Given the description of an element on the screen output the (x, y) to click on. 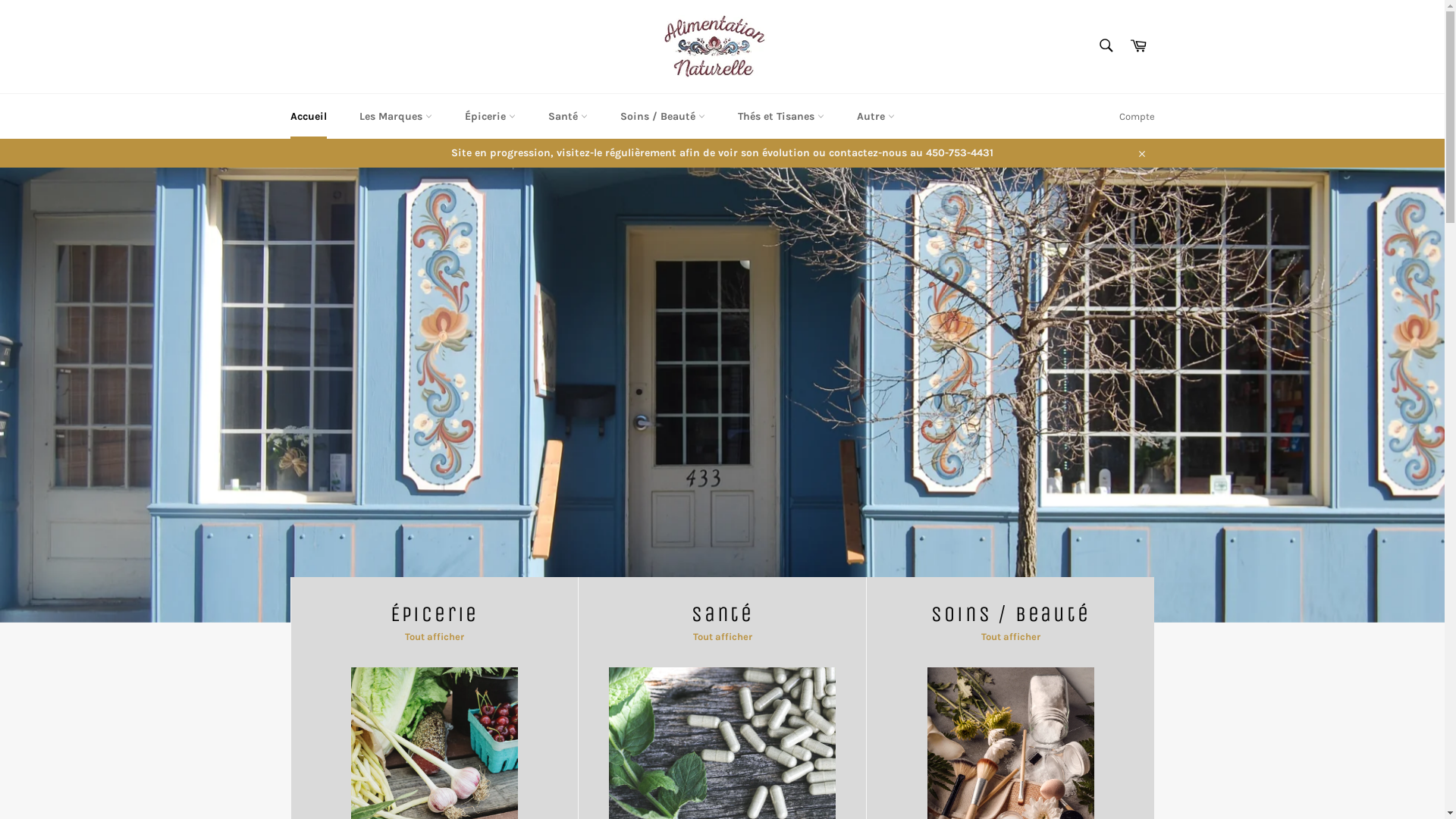
Les Marques Element type: text (395, 116)
Panier Element type: text (1138, 46)
Recherche Element type: text (1105, 45)
Autre Element type: text (875, 116)
Accueil Element type: text (307, 116)
Compte Element type: text (1136, 116)
Close Element type: text (1140, 152)
